Given the description of an element on the screen output the (x, y) to click on. 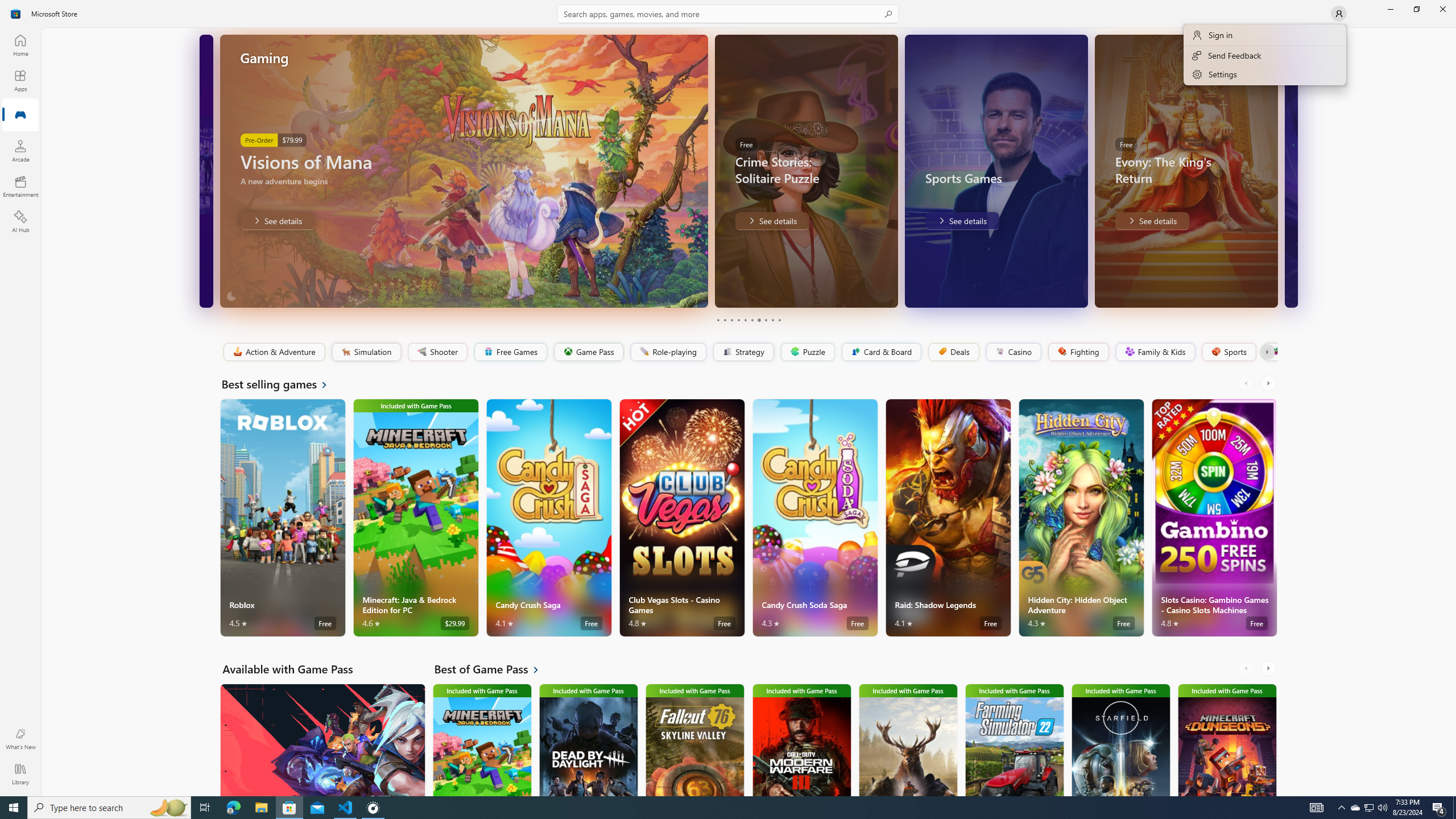
Action & Adventure (273, 352)
Platformer (1269, 352)
Page 8 (764, 319)
See all  Best selling games (280, 383)
Page 3 (731, 319)
Play Trailer (1238, 291)
Puzzle (807, 352)
Page 1 (717, 319)
Page 2 (724, 319)
